Given the description of an element on the screen output the (x, y) to click on. 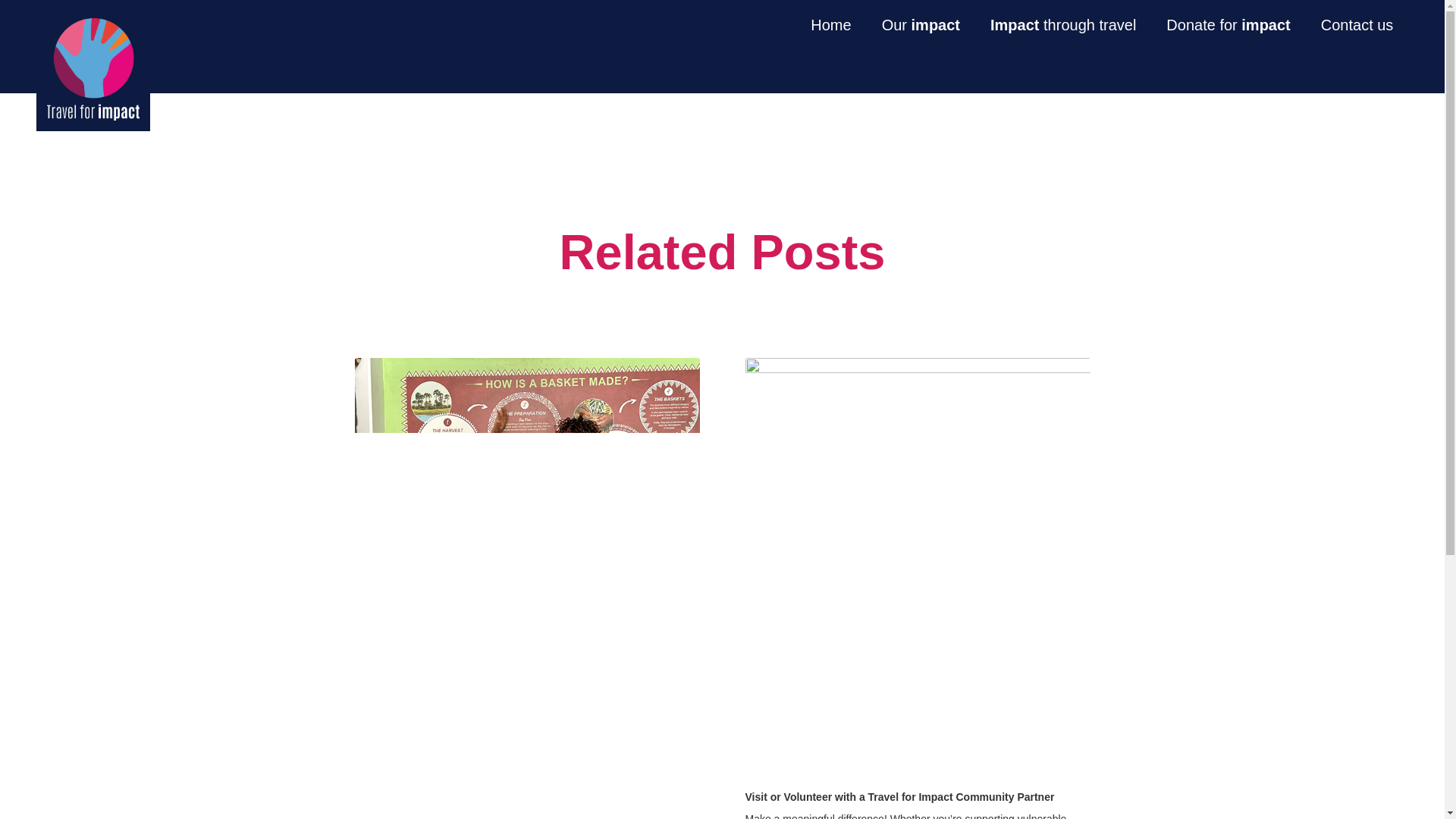
Contact us (1125, 24)
Home (832, 24)
Contact us (1227, 24)
Home (1063, 24)
